Given the description of an element on the screen output the (x, y) to click on. 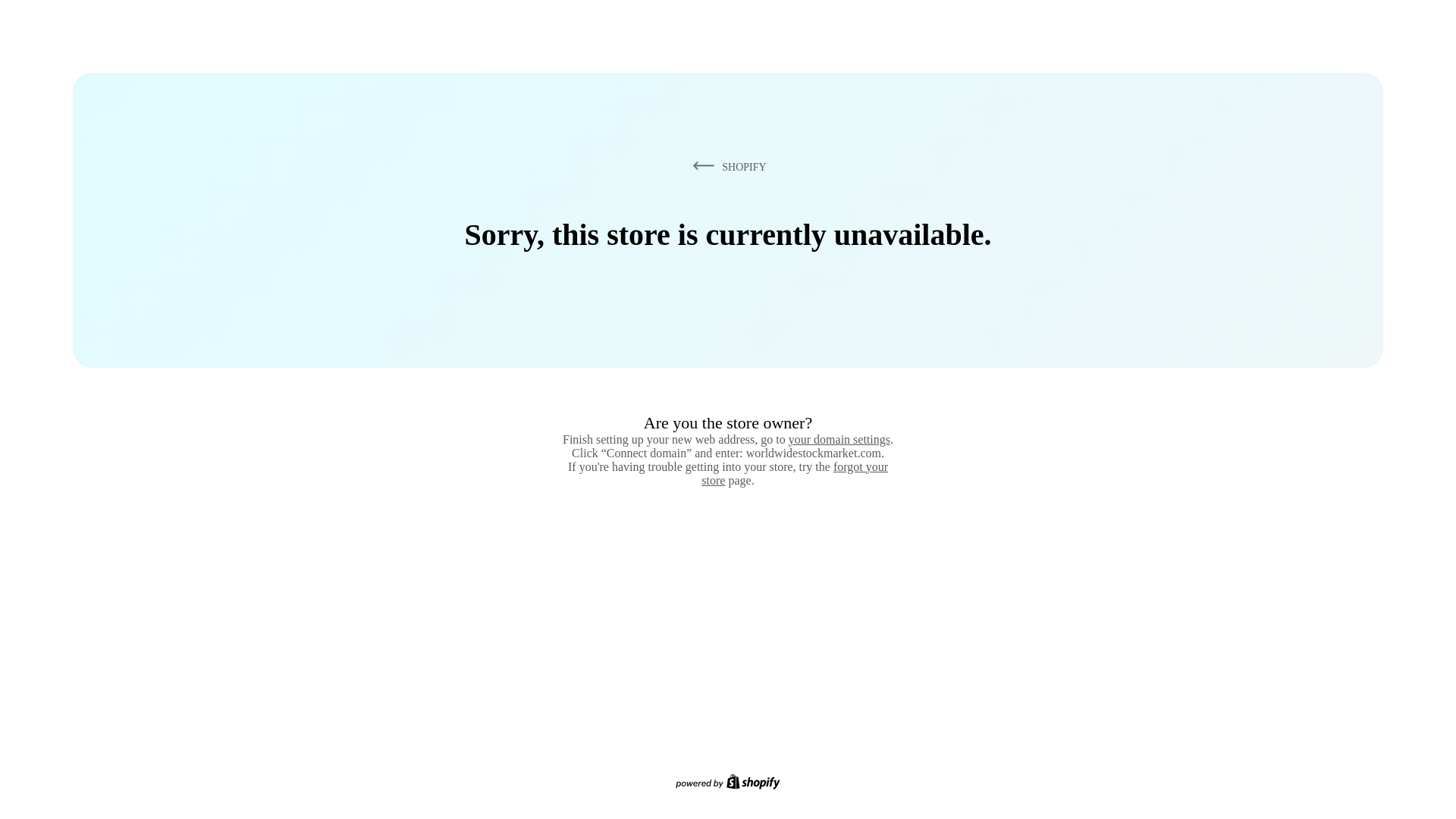
your domain settings (839, 439)
forgot your store (794, 473)
SHOPIFY (726, 166)
